Given the description of an element on the screen output the (x, y) to click on. 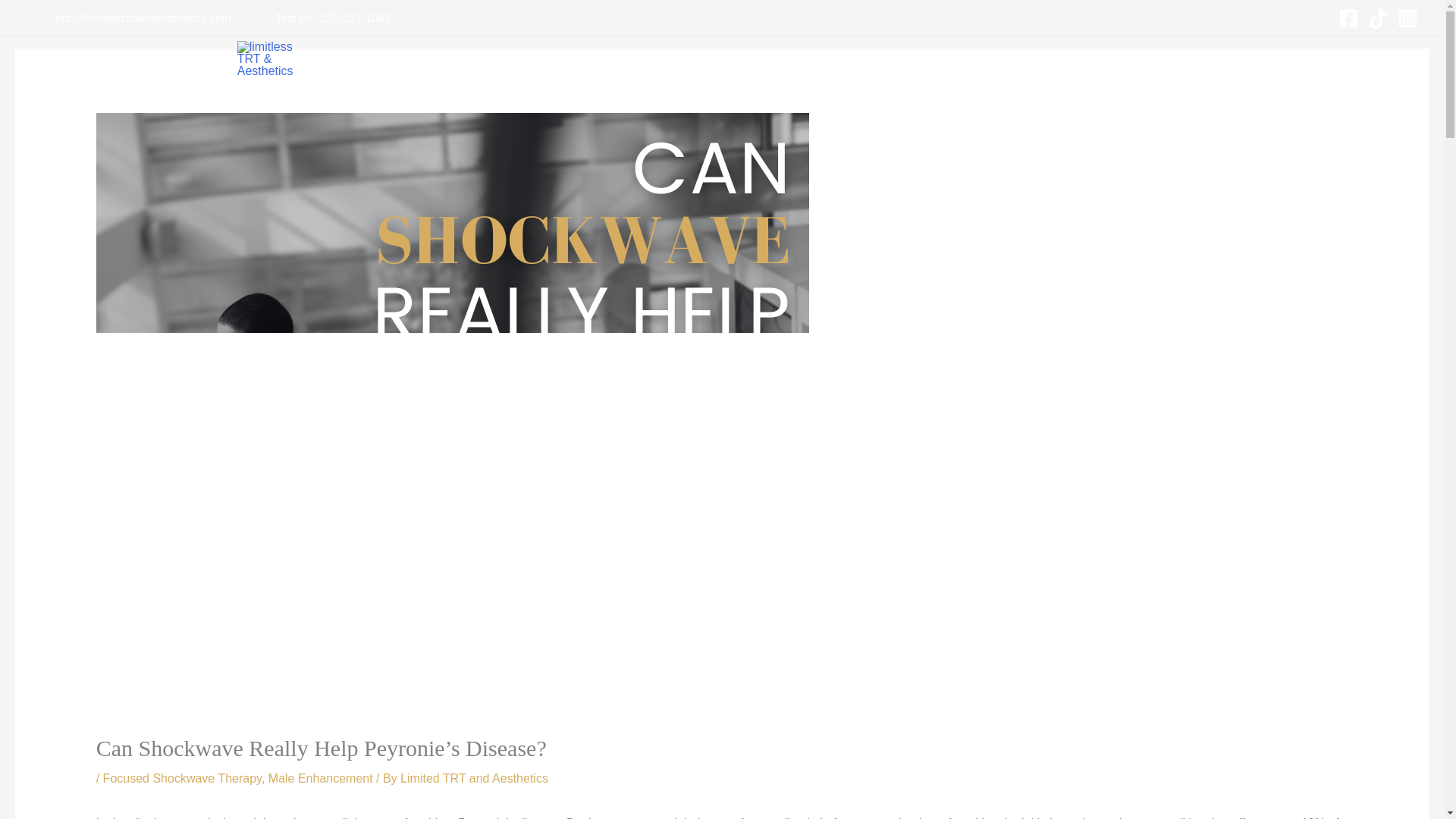
Well ProZ Lab Testing (937, 62)
Penis Enlargement (491, 62)
Skin Rejuvenation (703, 62)
View all posts by Limited TRT and Aesthetics (474, 778)
Aesthetic Services (816, 62)
1-480-400-0105 (1053, 62)
Female Health (599, 62)
